Given the description of an element on the screen output the (x, y) to click on. 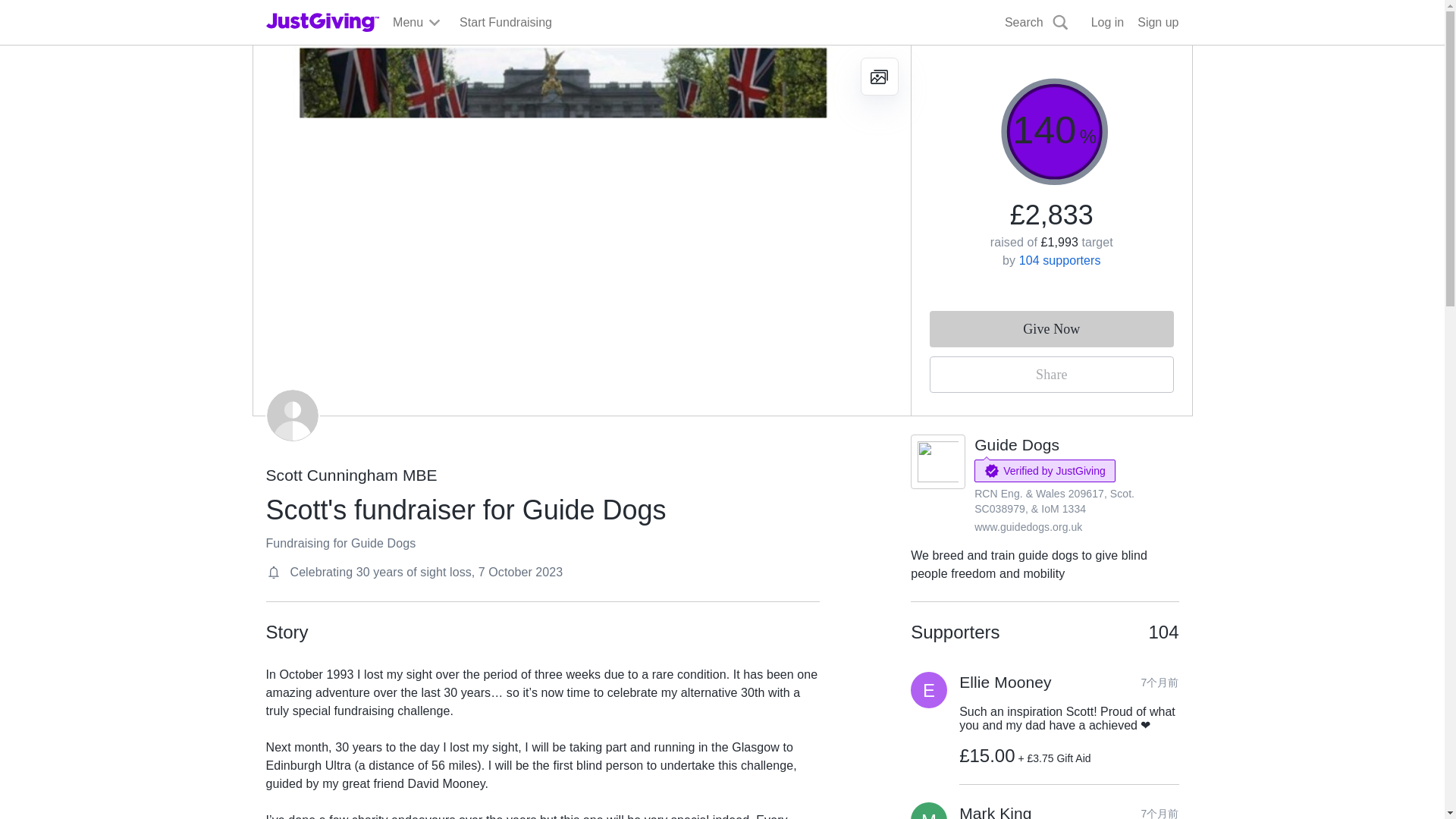
Start Fundraising (505, 22)
104 supporters (1059, 259)
Search (1036, 22)
Log in (1107, 22)
Share (1051, 374)
Search (919, 57)
Menu (416, 22)
Guide Dogs (1016, 444)
www.guidedogs.org.uk (1027, 526)
Sign up (1157, 22)
